Given the description of an element on the screen output the (x, y) to click on. 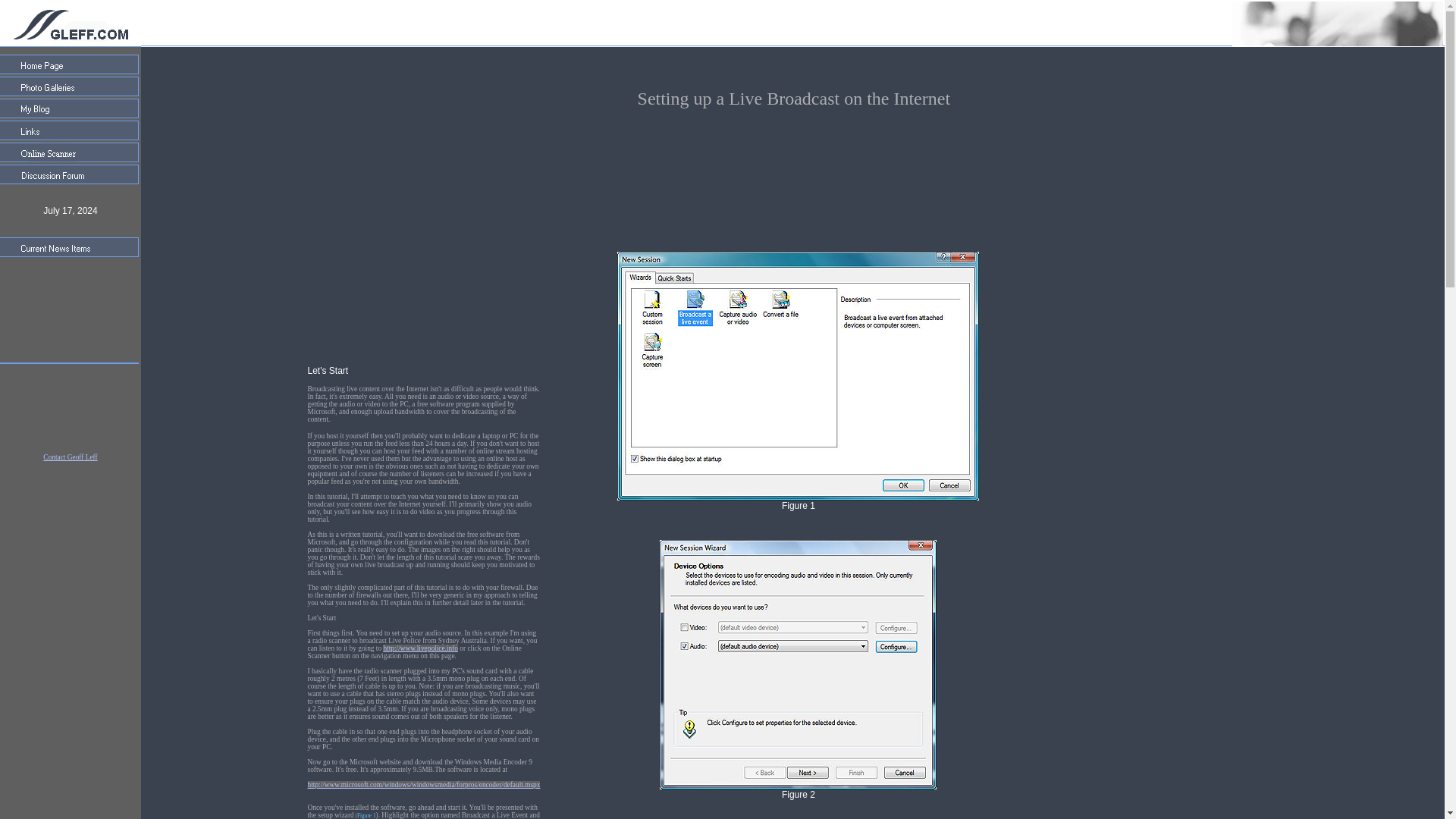
Advertisement (70, 408)
Contact Geoff Leff (70, 457)
Advertisement (794, 177)
